Given the description of an element on the screen output the (x, y) to click on. 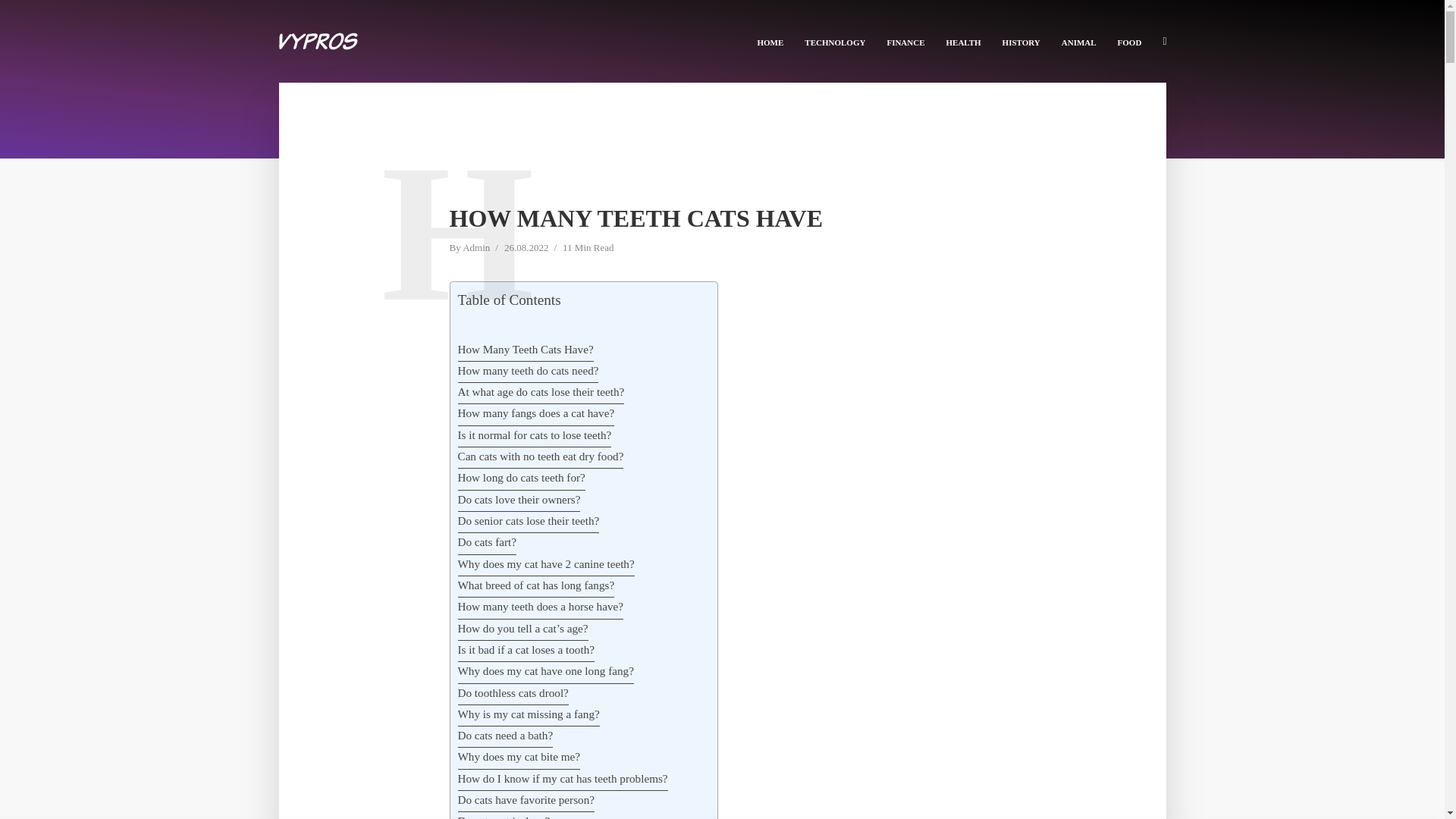
Do cats fart? (487, 543)
Do senior cats lose their teeth? (528, 522)
How do I know if my cat has teeth problems? (563, 780)
ANIMAL (1078, 41)
FINANCE (905, 41)
TECHNOLOGY (834, 41)
Do cats get jealous? (504, 815)
How many fangs does a cat have? (536, 414)
Why does my cat have 2 canine teeth? (546, 565)
Why does my cat have one long fang? (545, 672)
